Given the description of an element on the screen output the (x, y) to click on. 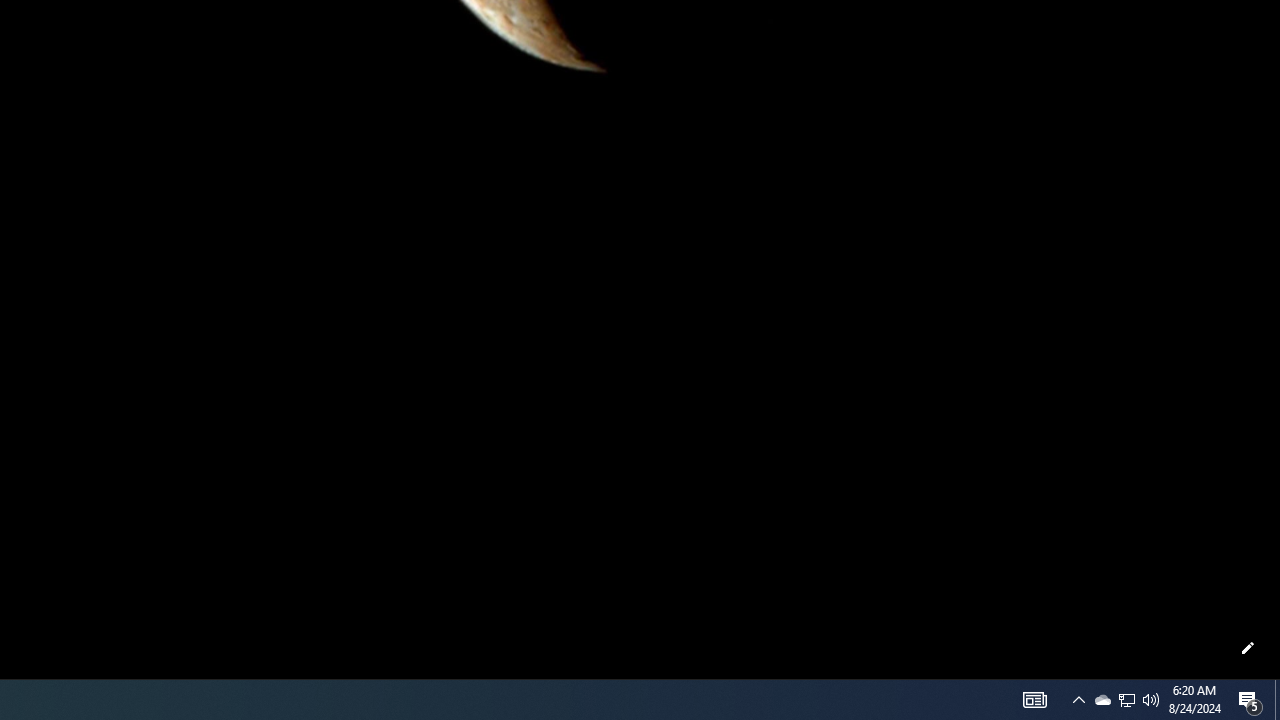
Customize this page (1247, 647)
